Given the description of an element on the screen output the (x, y) to click on. 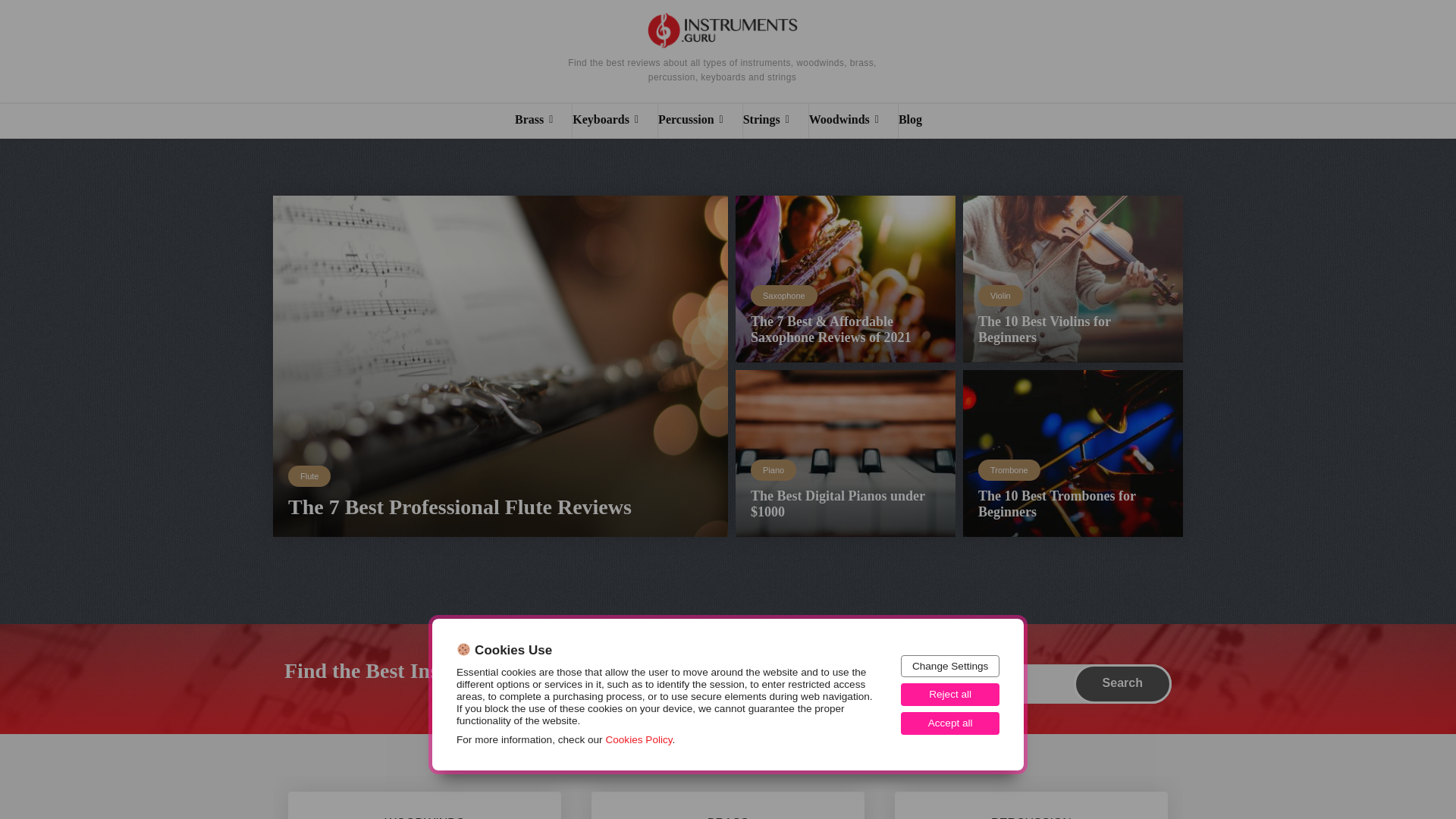
Strings (775, 121)
Brass (543, 121)
Blog (919, 121)
Percussion (700, 121)
Woodwinds (853, 121)
Keyboards (615, 121)
